Given the description of an element on the screen output the (x, y) to click on. 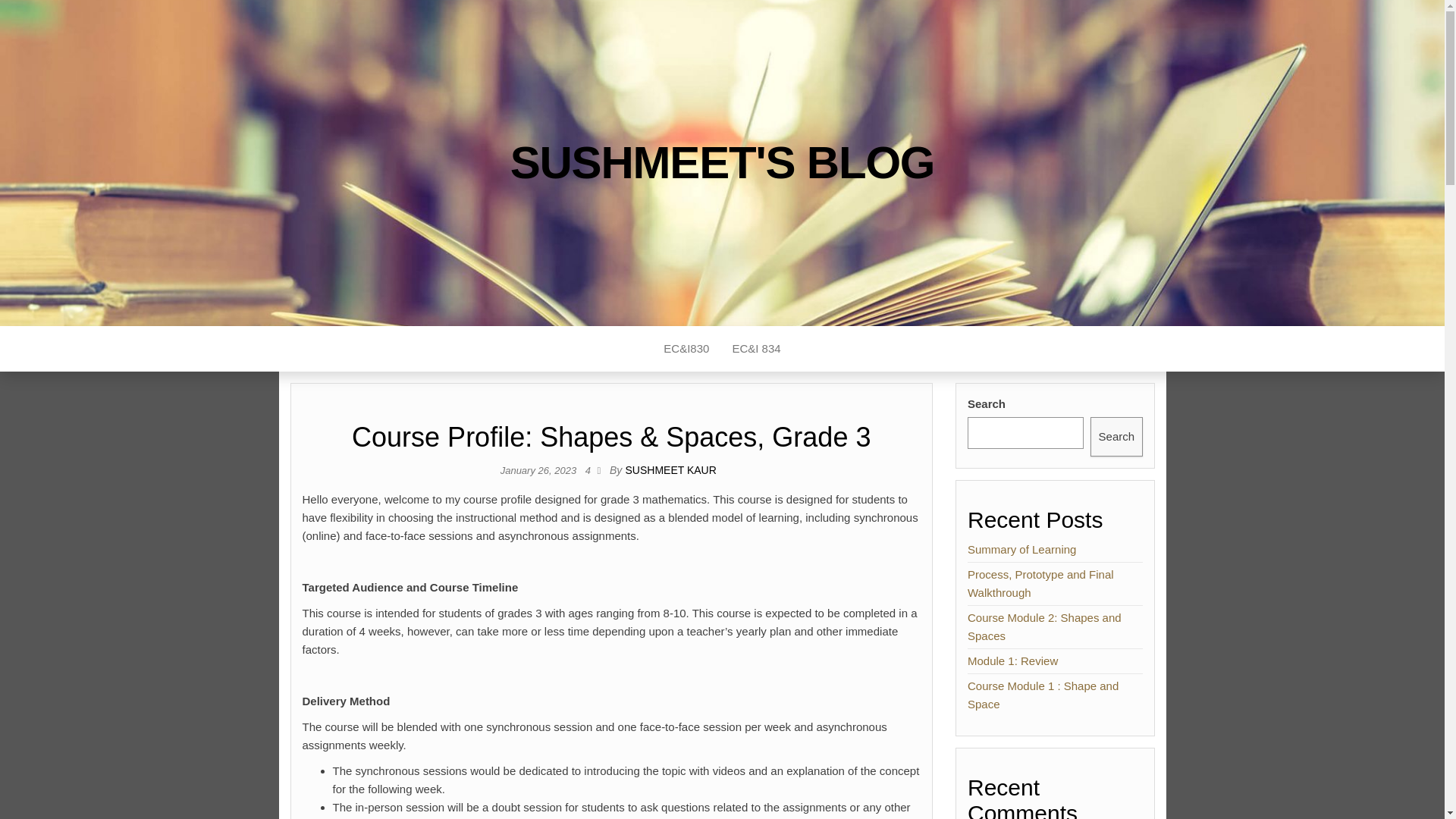
SUSHMEET'S BLOG (722, 162)
Process, Prototype and Final Walkthrough (1040, 583)
SUSHMEET KAUR (670, 469)
Module 1: Review (1013, 660)
4 (590, 470)
Course Module 2: Shapes and Spaces (1044, 626)
Summary of Learning (1021, 549)
Course Module 1 : Shape and Space (1043, 694)
Search (1115, 436)
